Given the description of an element on the screen output the (x, y) to click on. 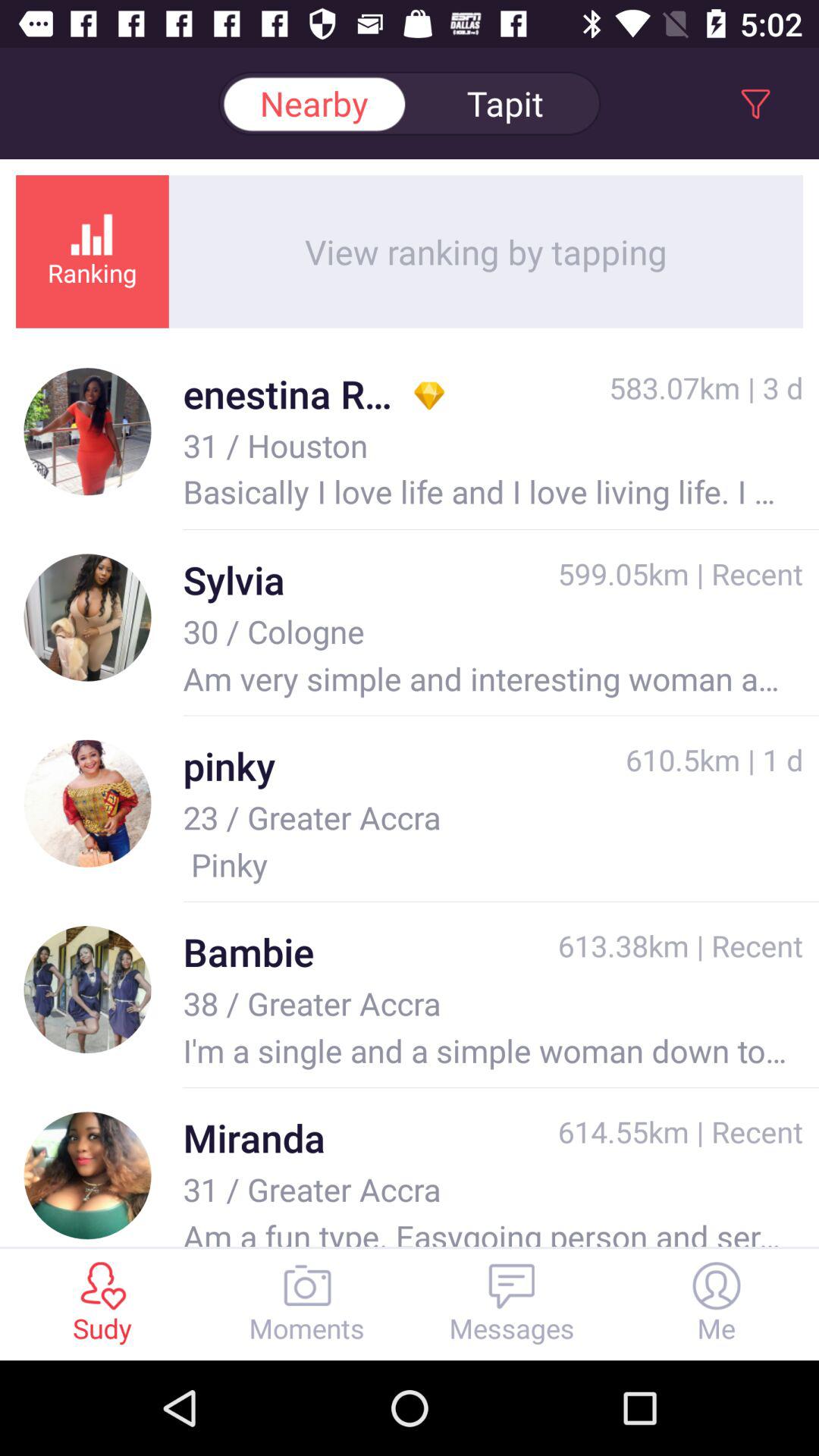
select icon above the view ranking by icon (313, 103)
